Given the description of an element on the screen output the (x, y) to click on. 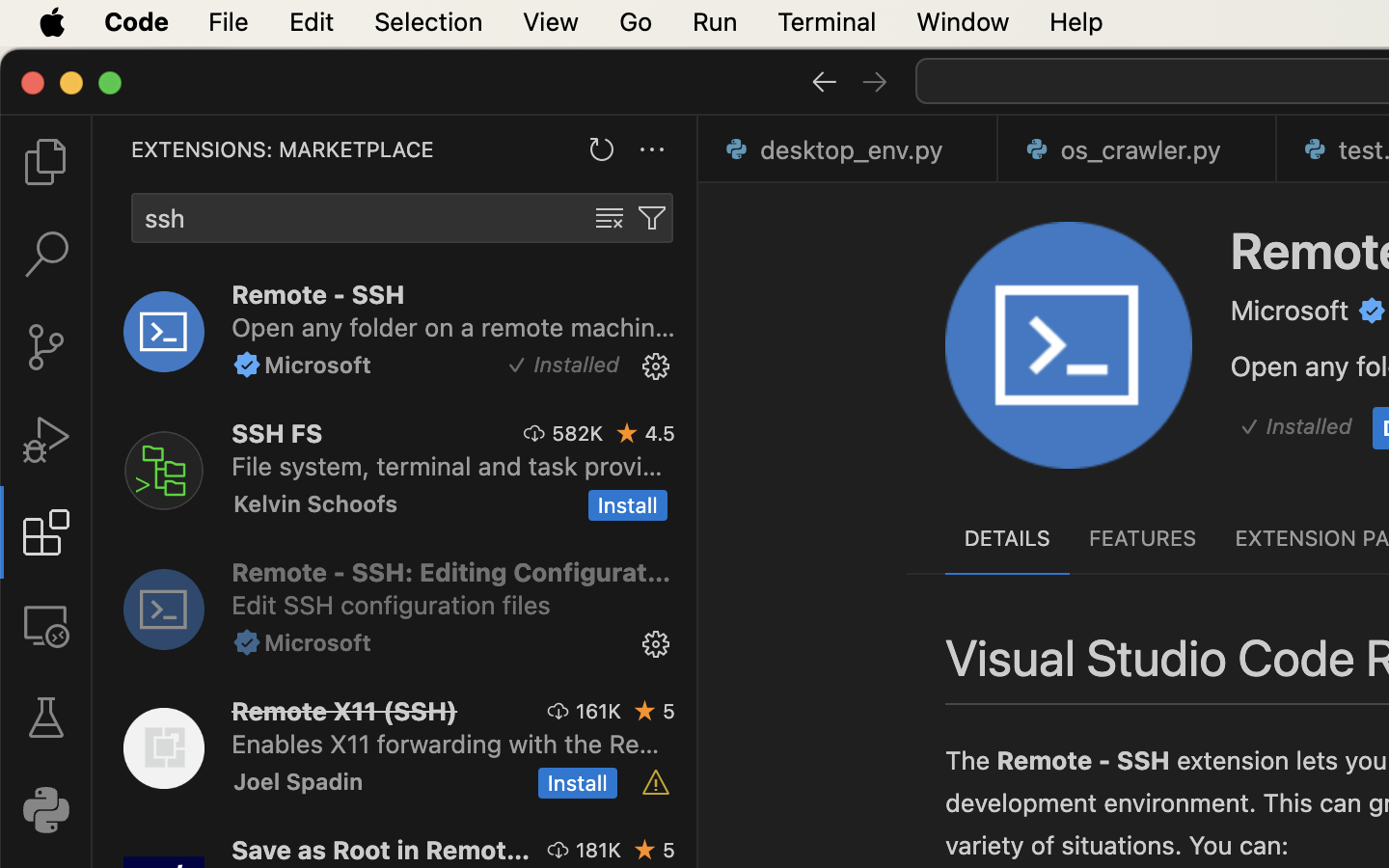
0 os_crawler.py   Element type: AXRadioButton (1138, 149)
 Element type: AXStaticText (534, 432)
Microsoft Element type: AXStaticText (1290, 310)
181K Element type: AXStaticText (597, 849)
Remote - SSH Element type: AXStaticText (1083, 760)
